Given the description of an element on the screen output the (x, y) to click on. 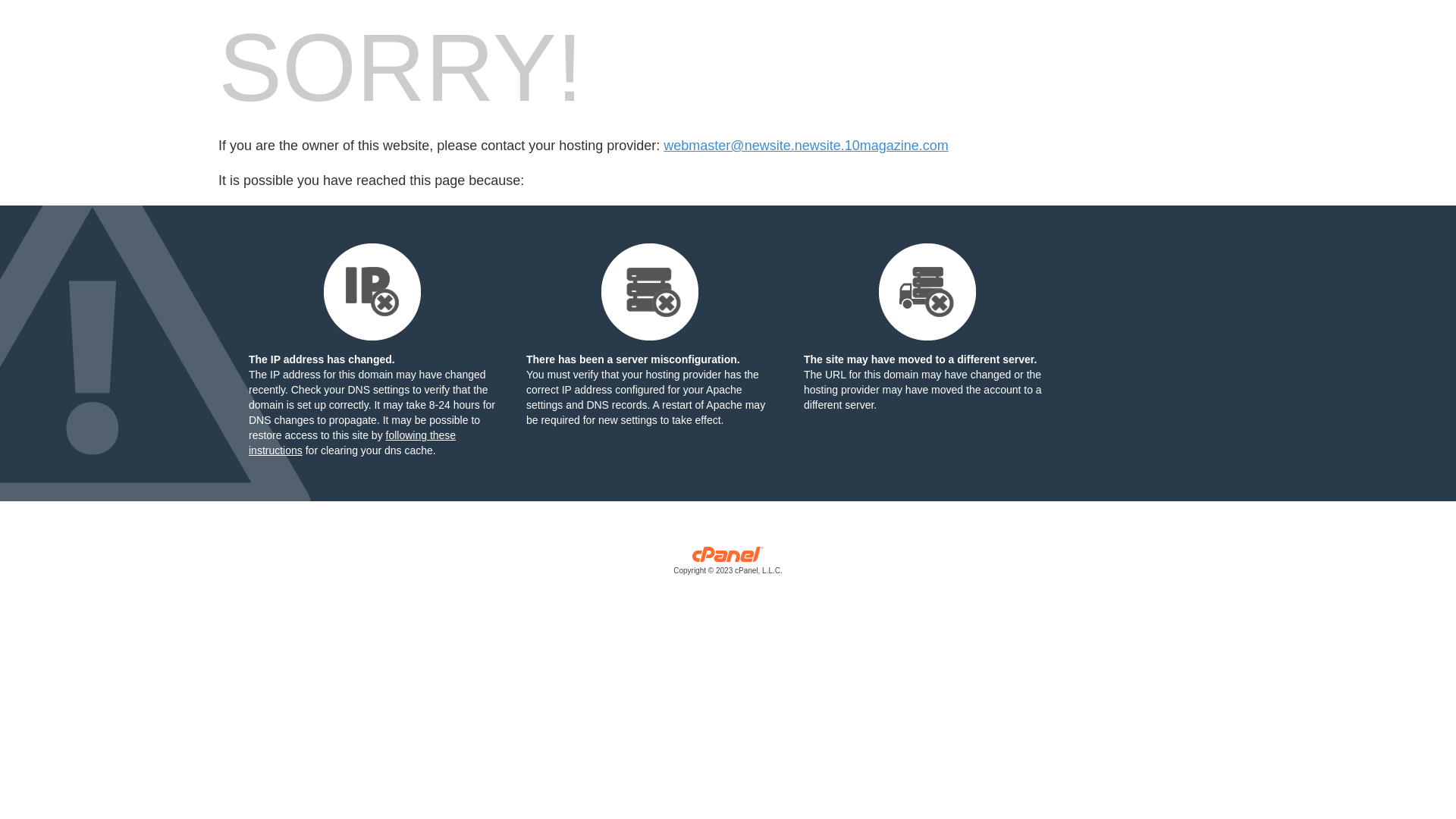
following these instructions Element type: text (351, 442)
webmaster@newsite.newsite.10magazine.com Element type: text (805, 145)
